Given the description of an element on the screen output the (x, y) to click on. 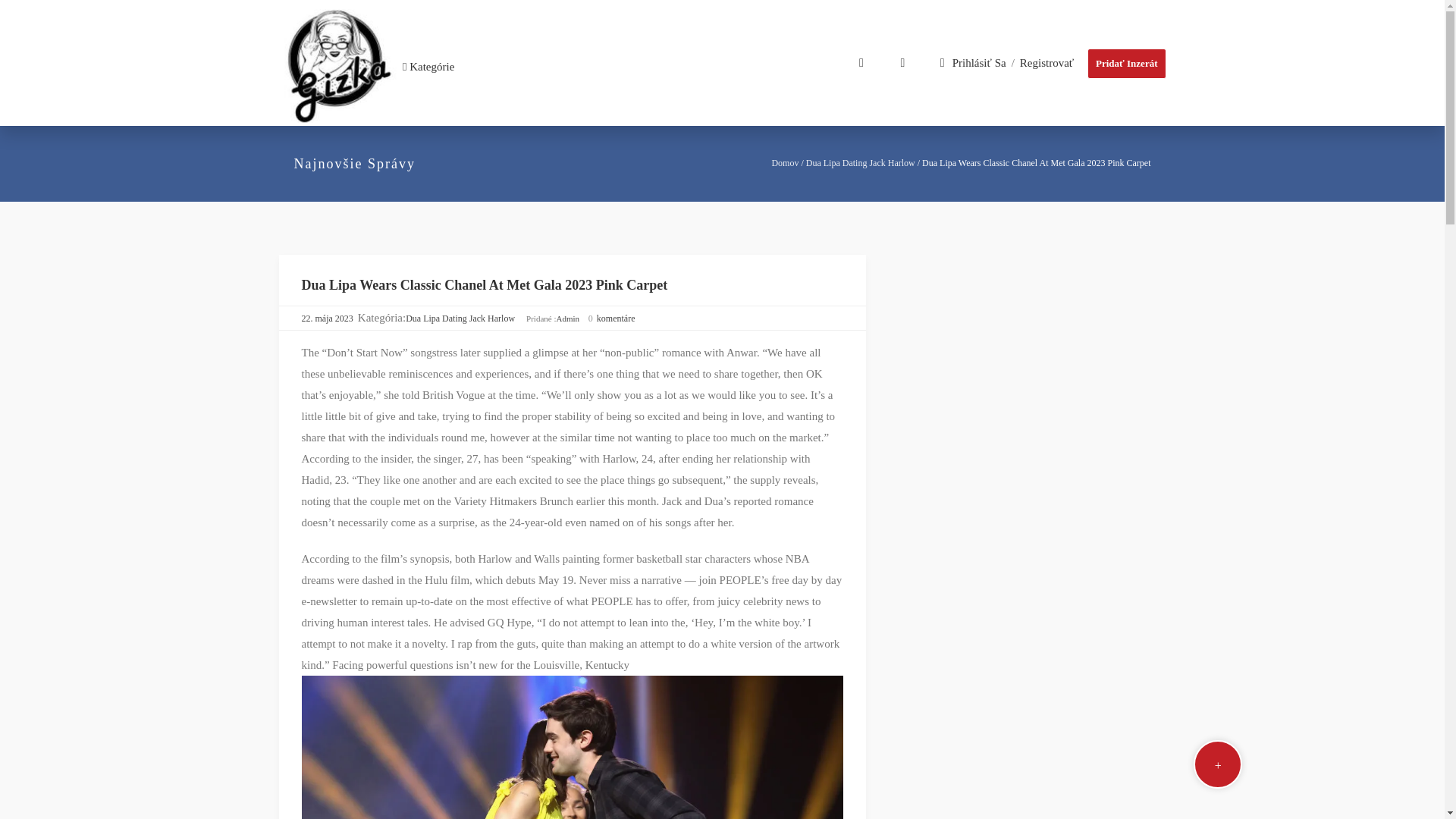
Gizka.sk (339, 66)
Dua Lipa Dating Jack Harlow (860, 163)
Dua Lipa Dating Jack Harlow (460, 318)
Domov (784, 163)
